Given the description of an element on the screen output the (x, y) to click on. 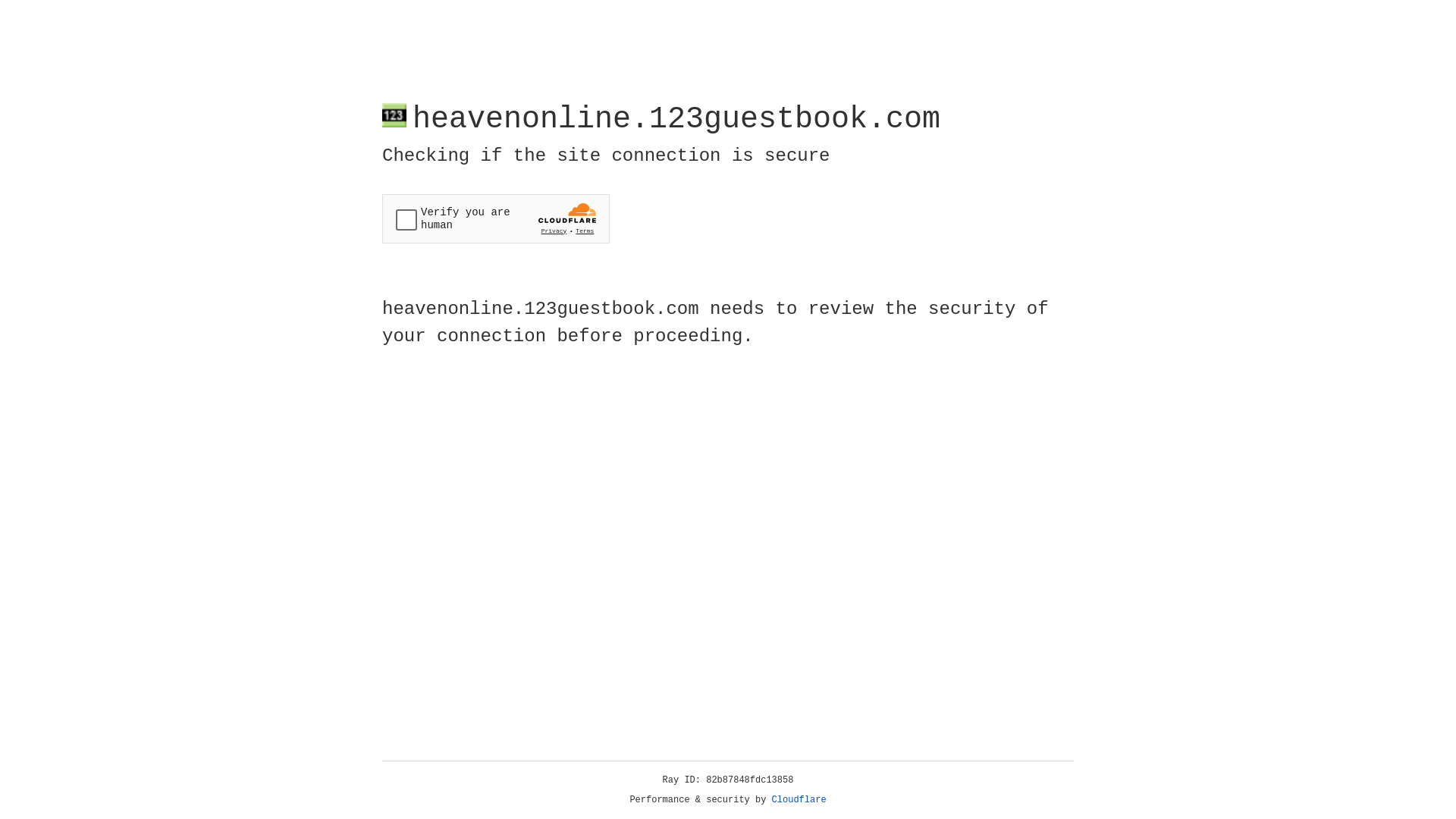
Widget containing a Cloudflare security challenge Element type: hover (495, 218)
Cloudflare Element type: text (798, 799)
